Given the description of an element on the screen output the (x, y) to click on. 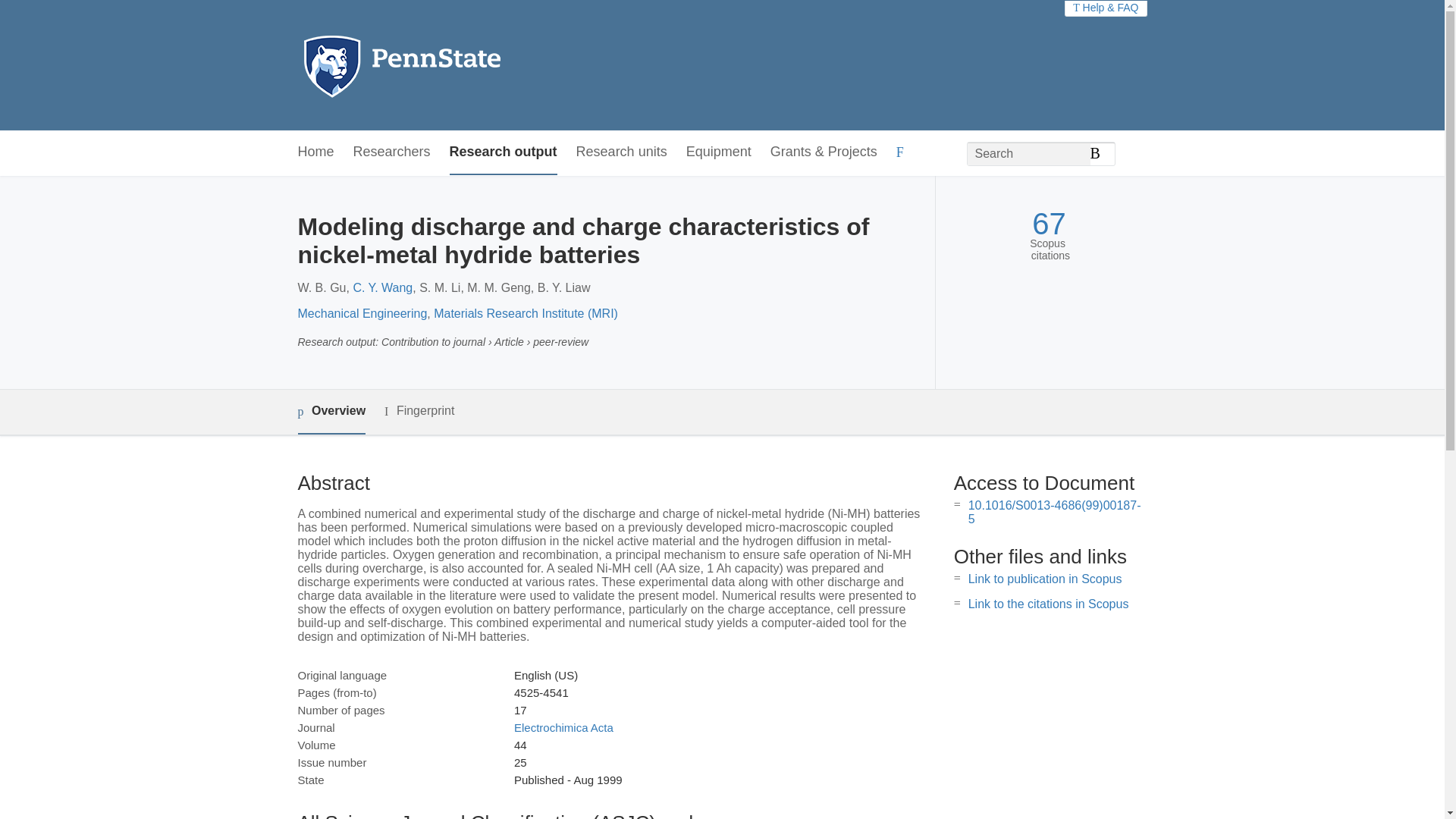
Link to the citations in Scopus (1048, 603)
Fingerprint (419, 411)
Research units (621, 152)
Equipment (718, 152)
C. Y. Wang (382, 287)
Electrochimica Acta (562, 727)
Penn State Home (467, 65)
67 (1048, 223)
Research output (503, 152)
